Given the description of an element on the screen output the (x, y) to click on. 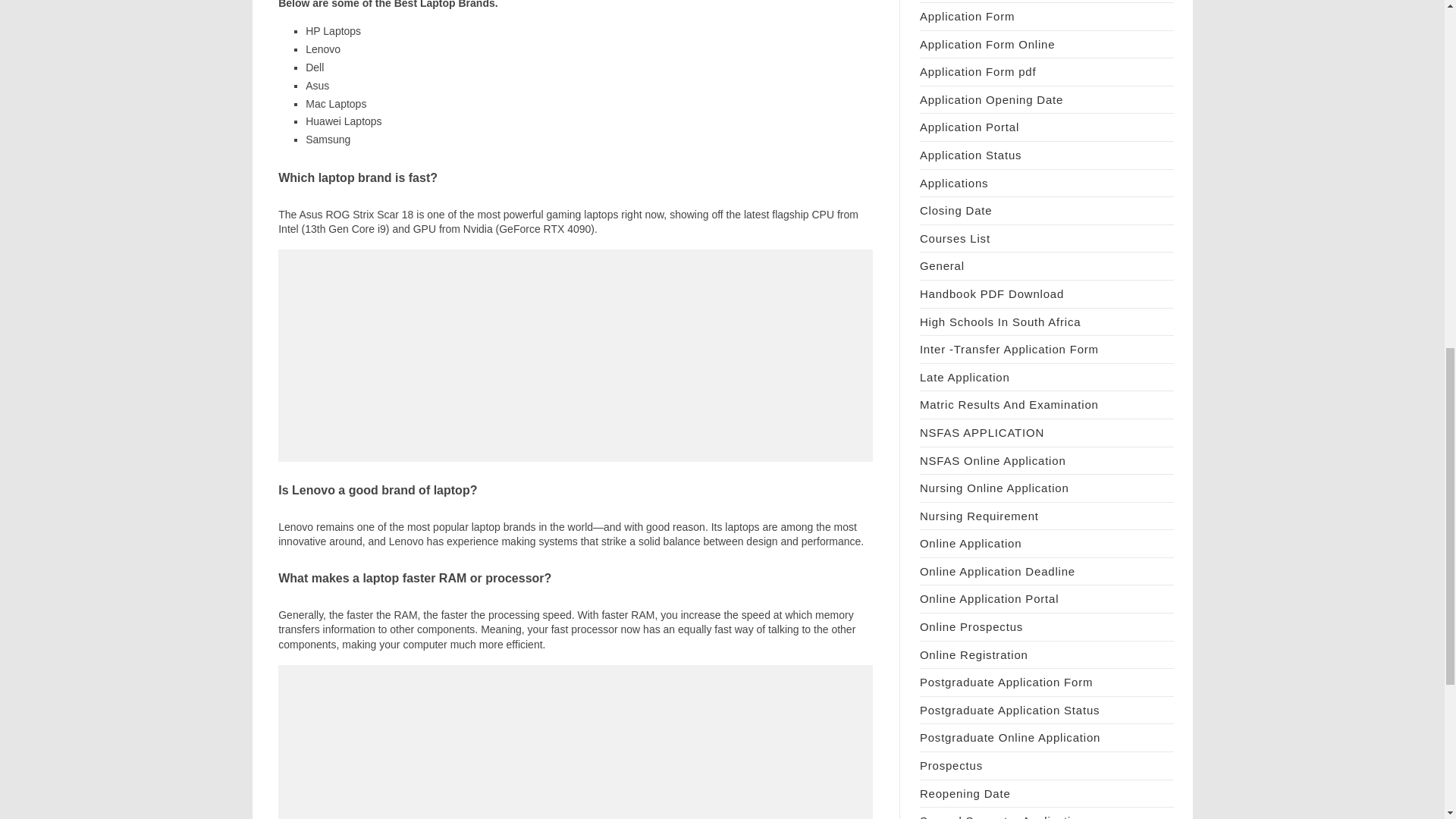
Closing Date (955, 210)
Courses List (955, 237)
Online Application (971, 543)
Nursing Requirement (979, 515)
Online Application Deadline (997, 571)
Application Form Online (987, 43)
Application Status (971, 154)
NSFAS Online Application (992, 460)
Application Opening Date (991, 99)
Online Prospectus (971, 626)
